Given the description of an element on the screen output the (x, y) to click on. 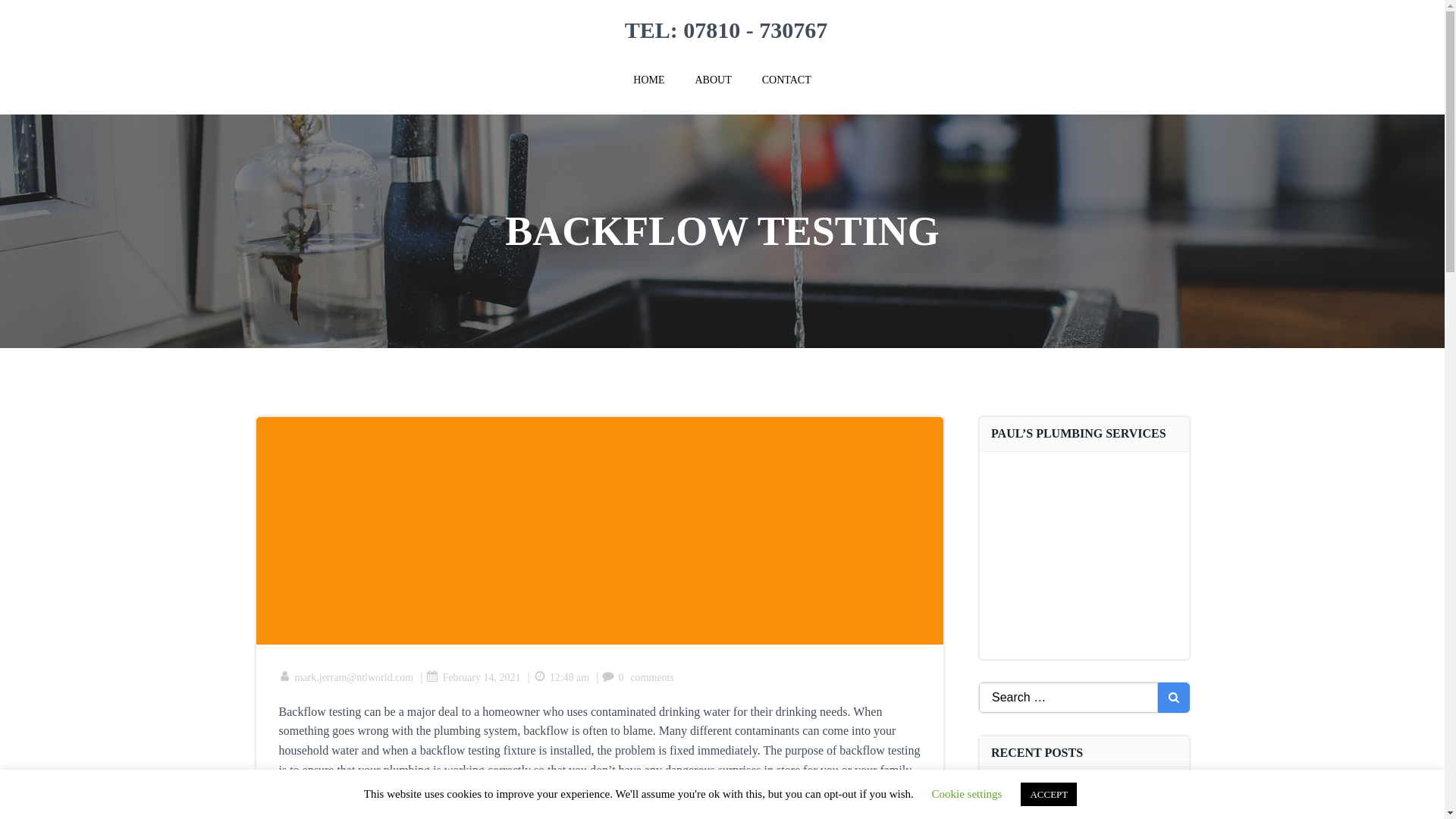
TEL: 07810 - 730767 (722, 29)
12:48 am (561, 677)
How to Fix a Dripping Tap (1055, 805)
0 (612, 677)
February 14, 2021 (472, 677)
CONTACT (785, 79)
HOME (648, 79)
Search  (30, 15)
ABOUT (712, 79)
